Given the description of an element on the screen output the (x, y) to click on. 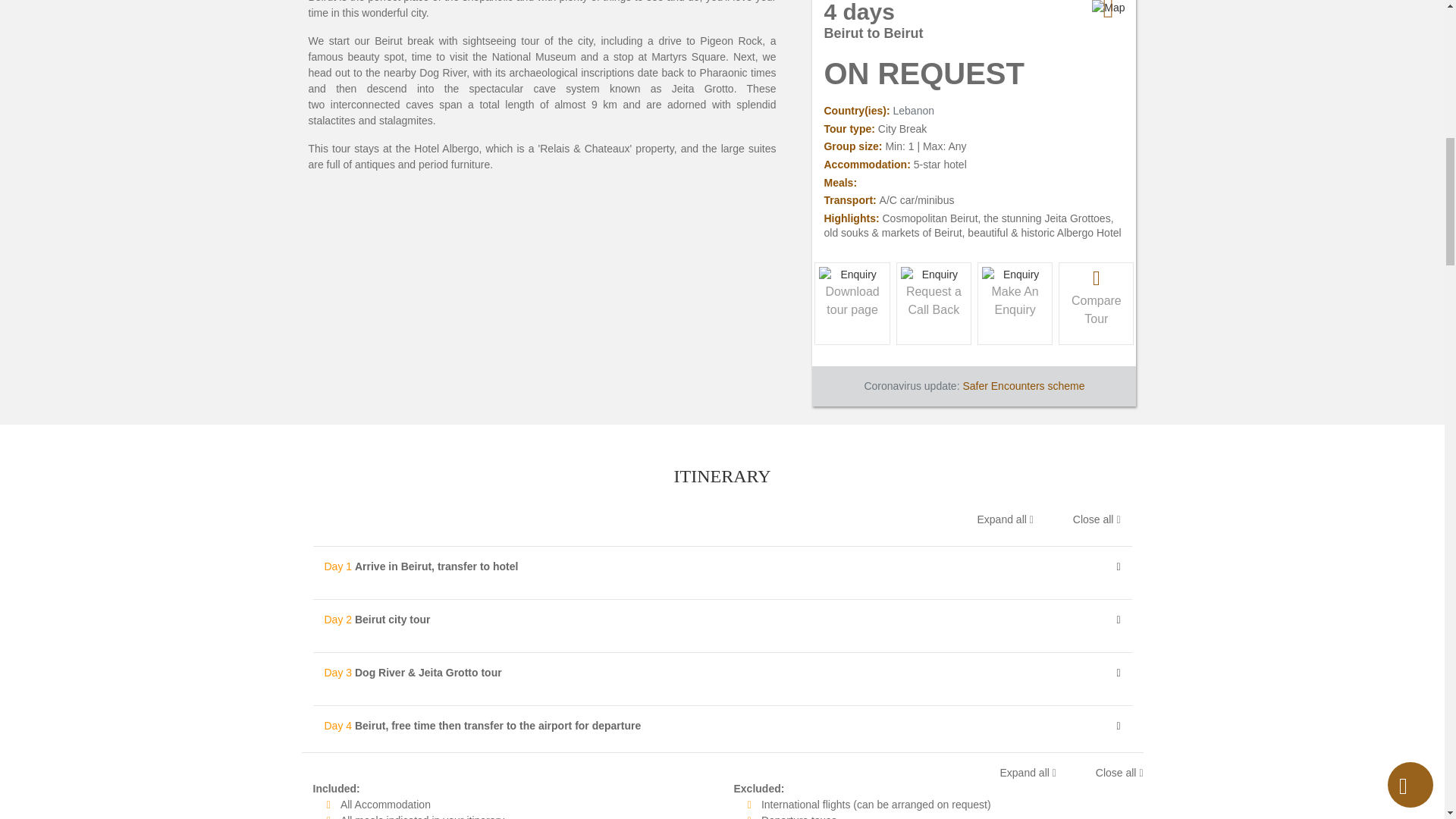
Request a Call Back (1014, 300)
Download tour page (852, 300)
Request a Call Back (932, 300)
